Given the description of an element on the screen output the (x, y) to click on. 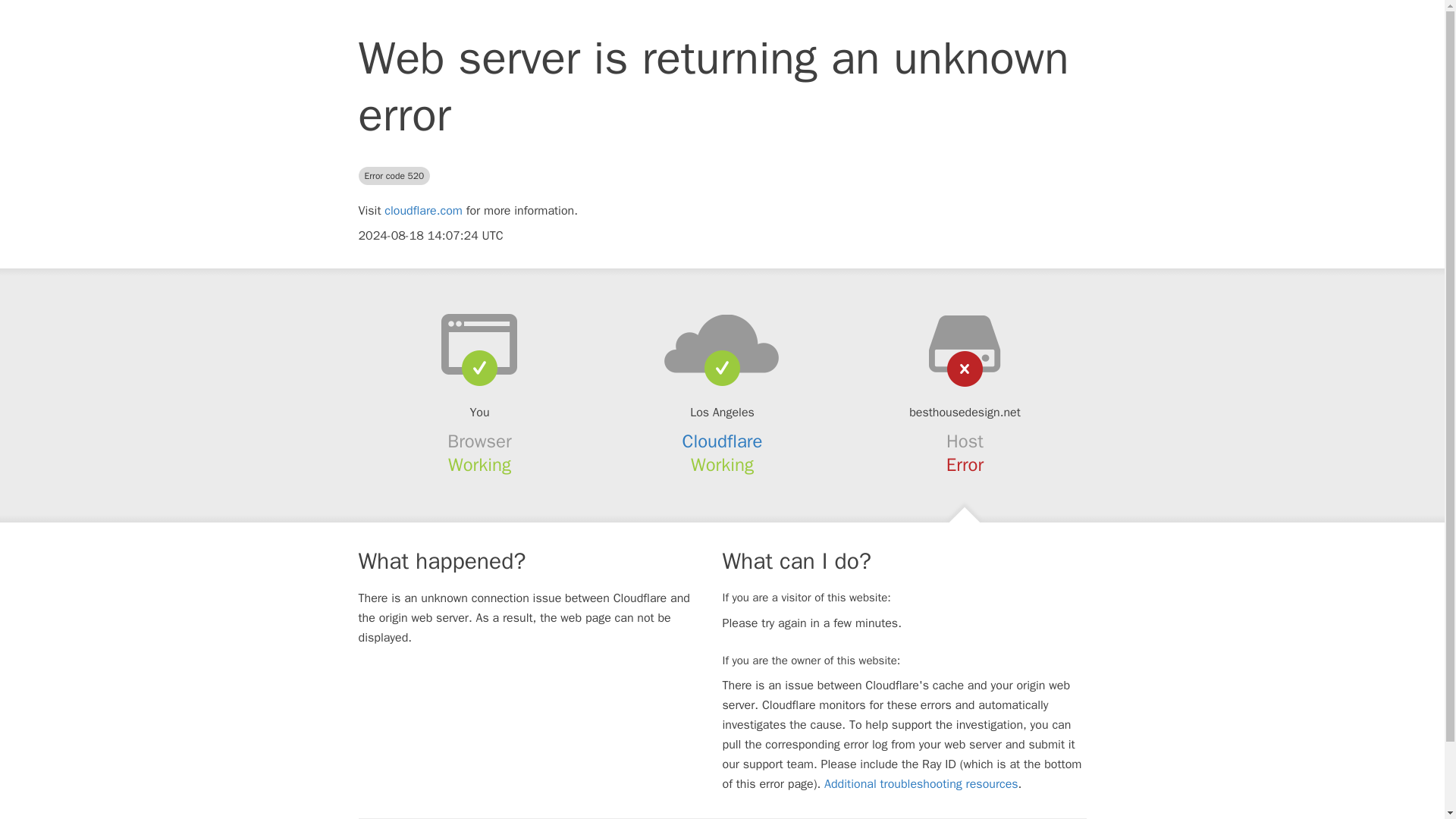
cloudflare.com (423, 210)
Additional troubleshooting resources (920, 783)
Cloudflare (722, 440)
